Given the description of an element on the screen output the (x, y) to click on. 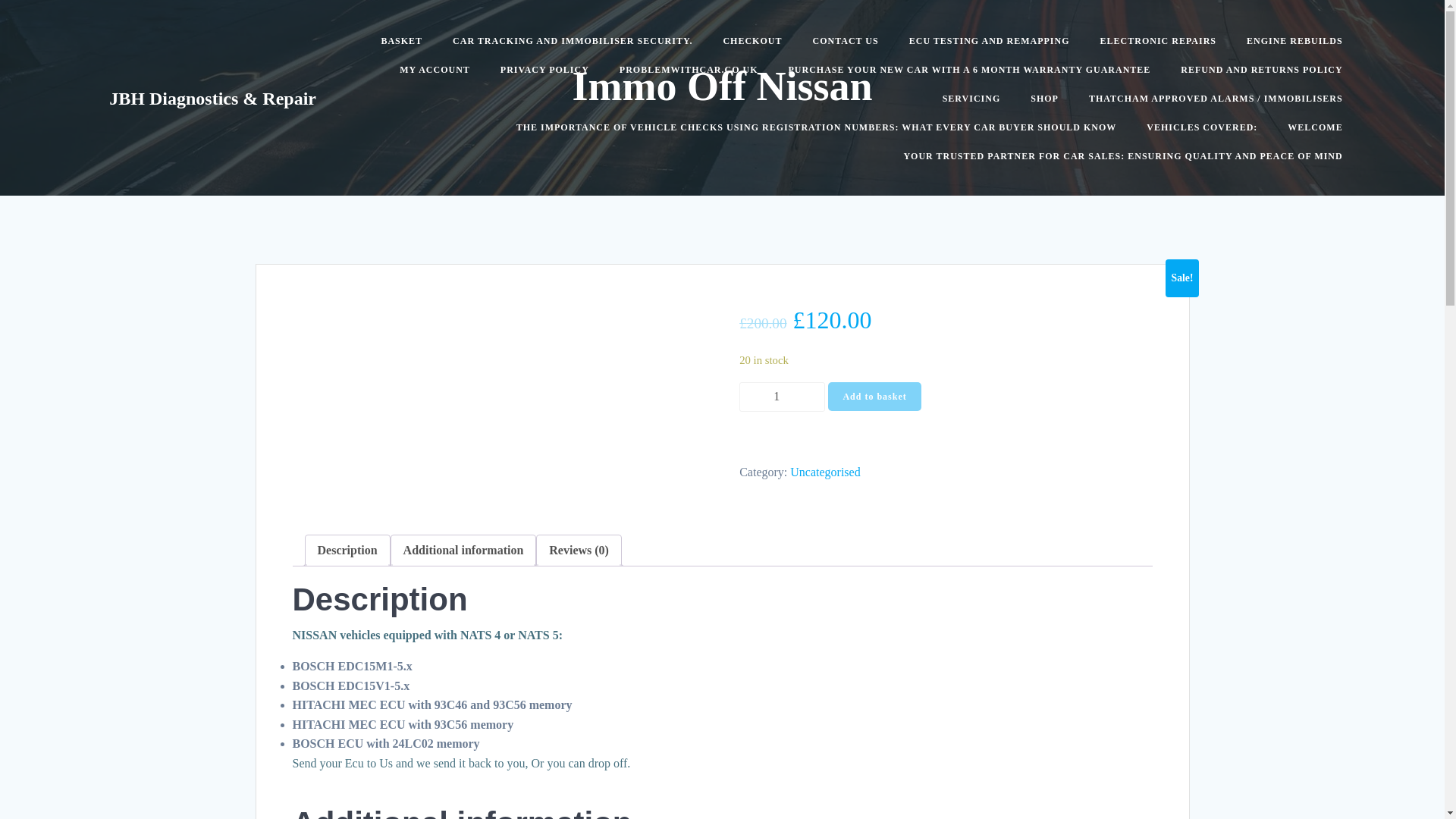
PROBLEMWITHCAR.CO.UK (689, 69)
CAR TRACKING AND IMMOBILISER SECURITY. (572, 40)
PRIVACY POLICY (544, 69)
REFUND AND RETURNS POLICY (1261, 69)
SHOP (1044, 98)
ENGINE REBUILDS (1294, 40)
1 (782, 396)
PURCHASE YOUR NEW CAR WITH A 6 MONTH WARRANTY GUARANTEE (970, 69)
SERVICING (971, 98)
